Given the description of an element on the screen output the (x, y) to click on. 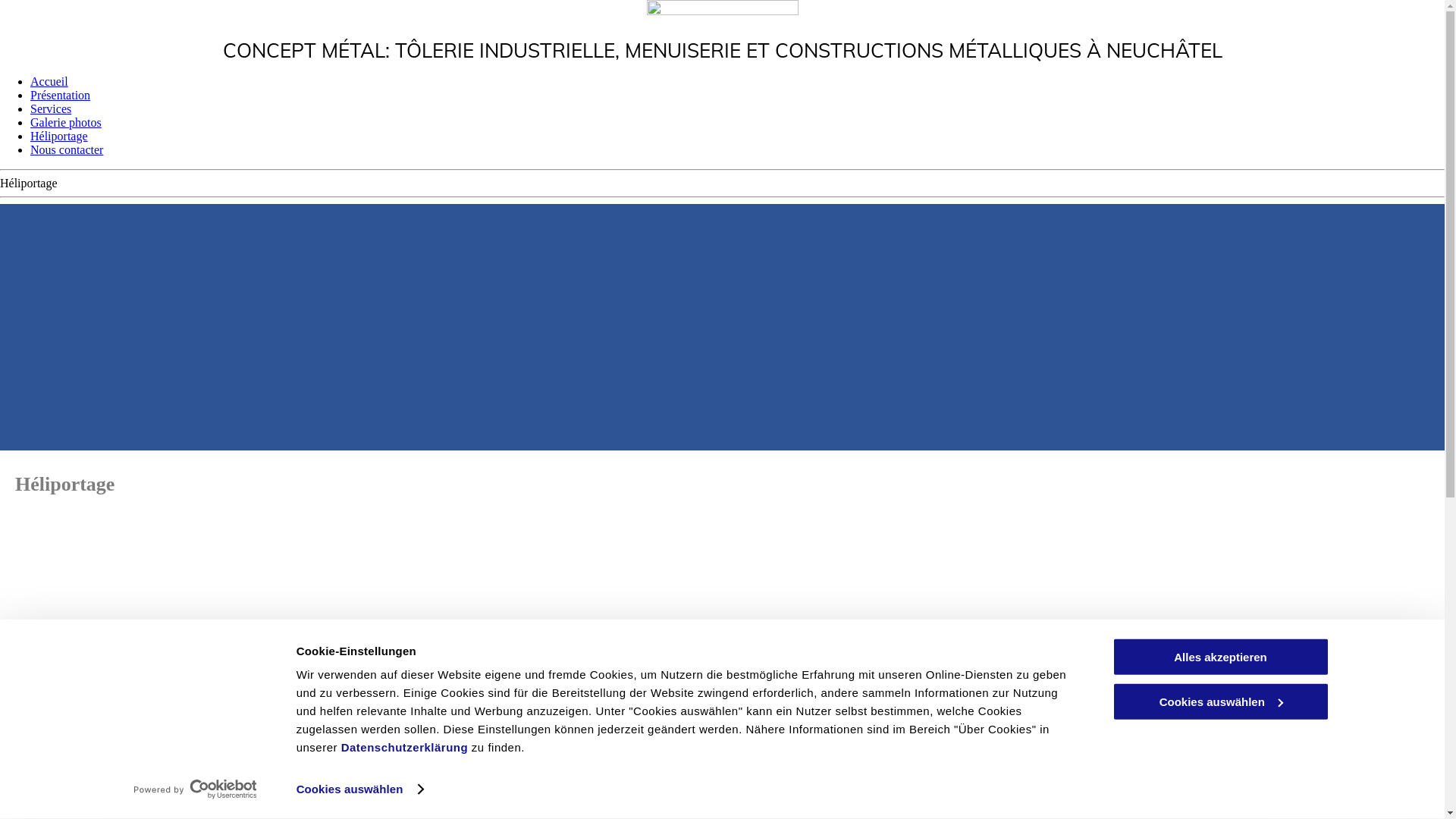
Alles akzeptieren Element type: text (1219, 656)
Services Element type: text (50, 108)
Nous contacter Element type: text (66, 149)
Galerie photos Element type: text (65, 122)
Accueil Element type: text (49, 81)
